Given the description of an element on the screen output the (x, y) to click on. 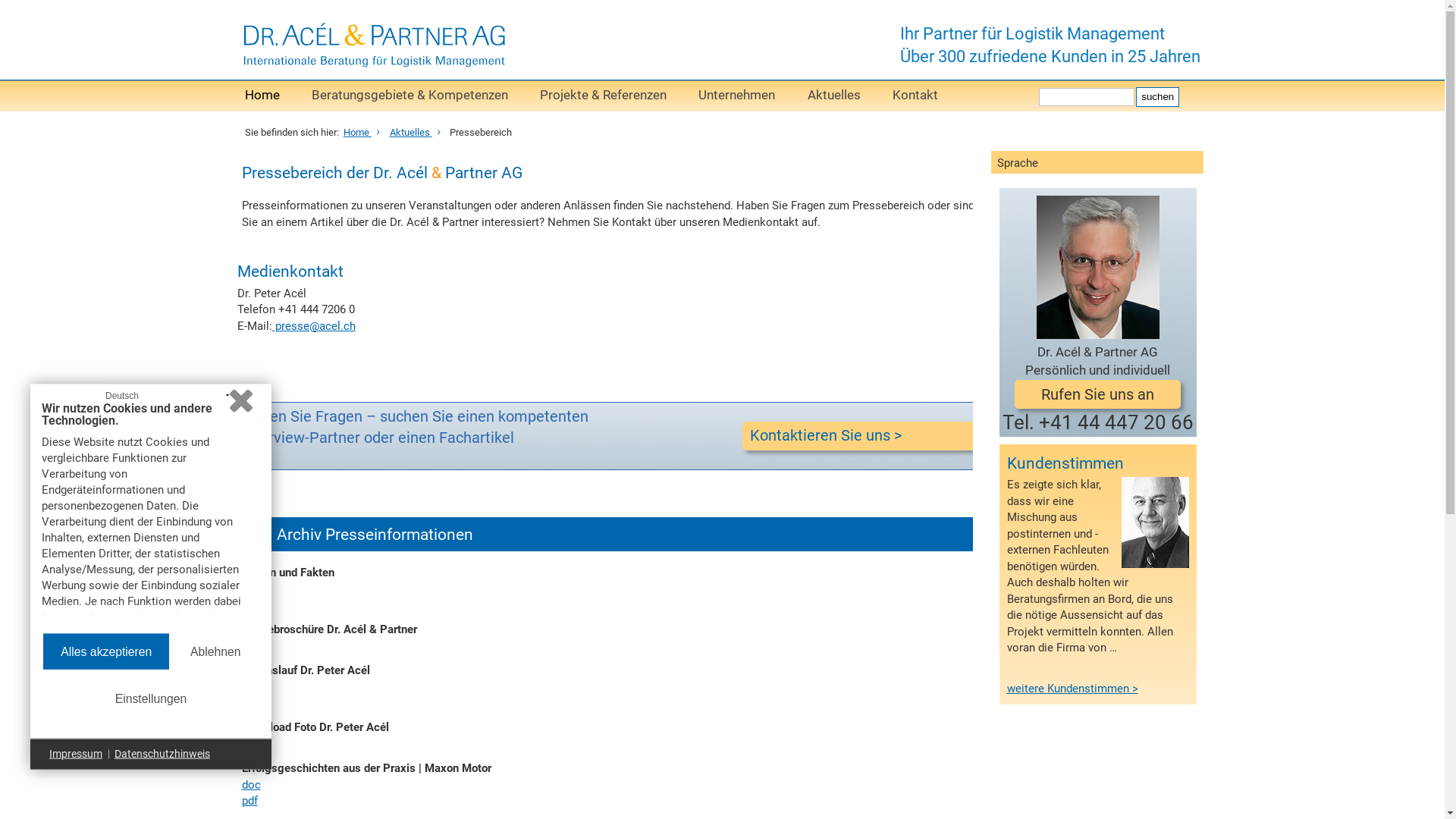
Beratungsgebiete & Kompetenzen Element type: text (409, 95)
Projekte & Referenzen Element type: text (602, 95)
+41 44 447 20 66 Element type: text (1115, 422)
Impressum Element type: text (75, 754)
weitere Kundenstimmen > Element type: text (1072, 688)
suchen Element type: text (1157, 96)
doc Element type: text (250, 784)
Kontaktieren Sie uns > Element type: text (859, 435)
doc Element type: text (250, 686)
presse@acel.ch Element type: text (312, 325)
Unternehmen Element type: text (736, 95)
pdf Element type: text (249, 604)
doc Element type: text (250, 589)
Peter Stoop Element type: hover (1154, 521)
Home Element type: text (261, 95)
pdf Element type: text (249, 800)
Einstellungen Element type: text (150, 698)
Datenschutzhinweis Element type: text (162, 754)
Alles akzeptieren Element type: text (106, 651)
pdf Element type: text (249, 702)
Aktuelles Element type: text (833, 95)
Home Element type: text (364, 132)
Close Element type: hover (241, 400)
Ablehnen Element type: text (215, 651)
Aktuelles Element type: text (417, 132)
Rufen Sie uns an Element type: text (1097, 394)
jpg Element type: text (248, 743)
Kontakt Element type: text (915, 95)
pdf Element type: text (249, 645)
